Given the description of an element on the screen output the (x, y) to click on. 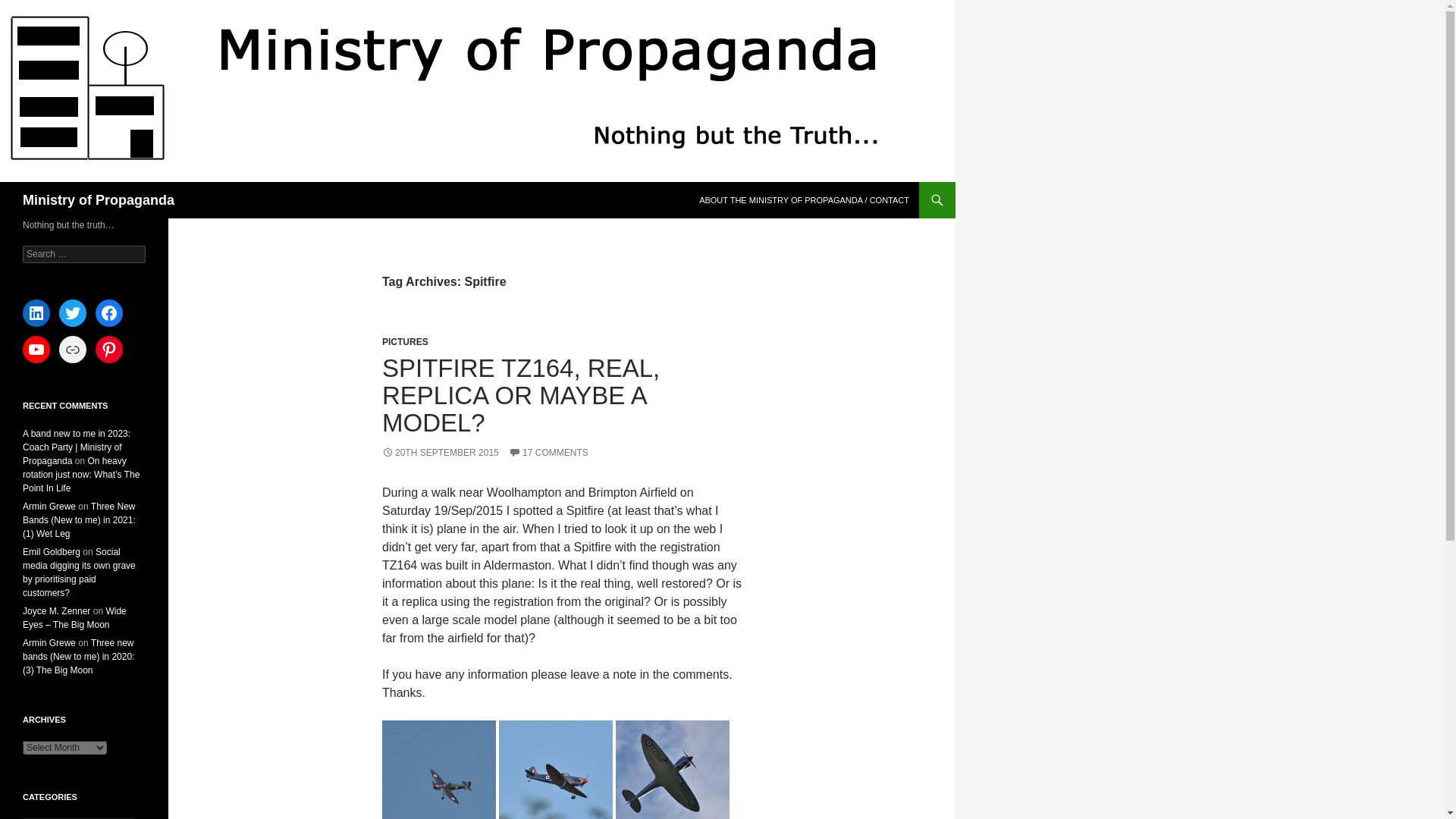
17 COMMENTS (548, 452)
YouTube (36, 349)
SPITFIRE TZ164, REAL, REPLICA OR MAYBE A MODEL? (520, 394)
Pinterest (109, 349)
Search (30, 8)
20TH SEPTEMBER 2015 (440, 452)
Link (72, 349)
Twitter (72, 312)
